Given the description of an element on the screen output the (x, y) to click on. 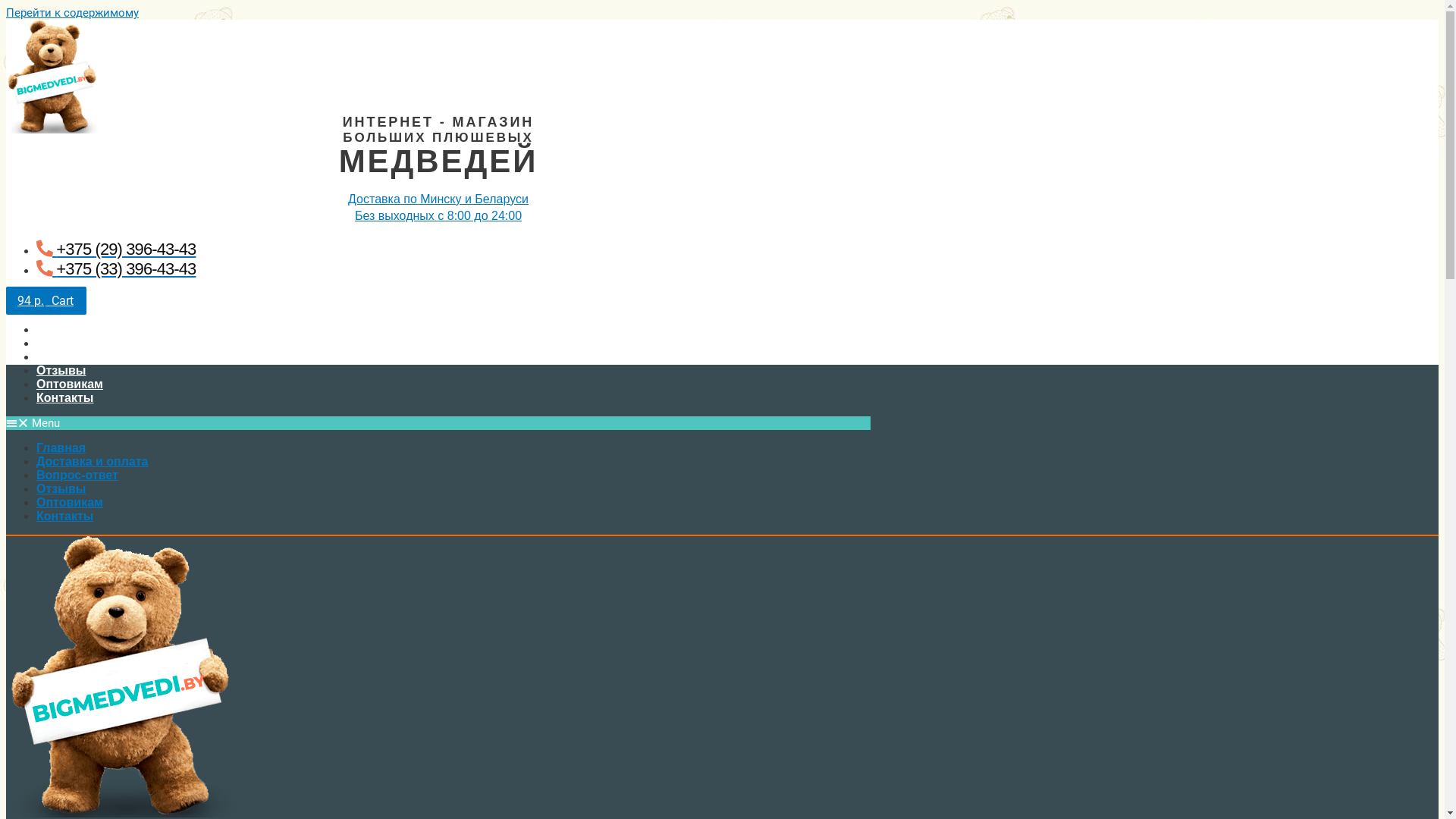
+375 (33) 396-43-43 Element type: text (115, 268)
+375 (29) 396-43-43 Element type: text (115, 248)
